Given the description of an element on the screen output the (x, y) to click on. 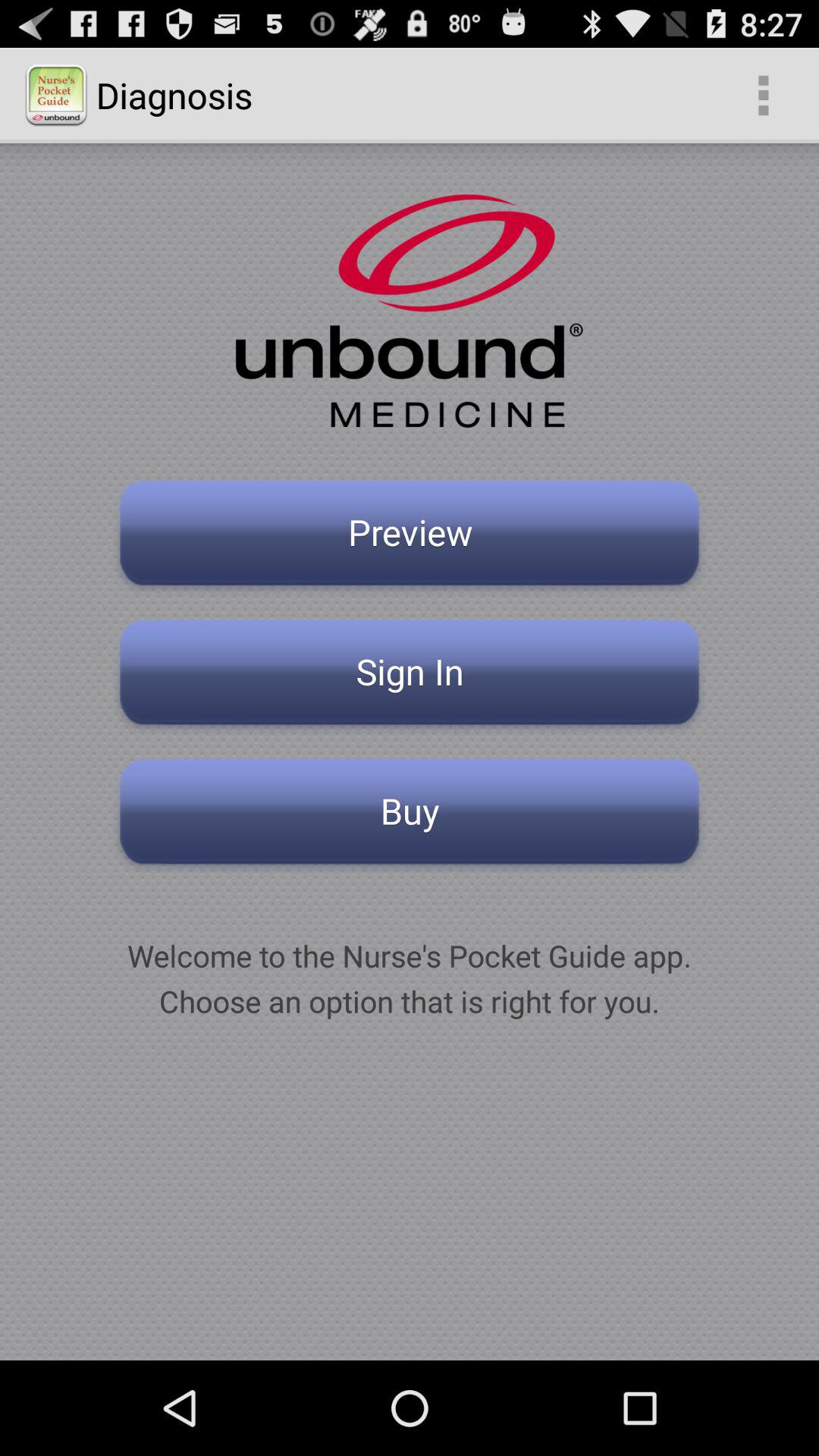
swipe until the buy button (409, 815)
